Given the description of an element on the screen output the (x, y) to click on. 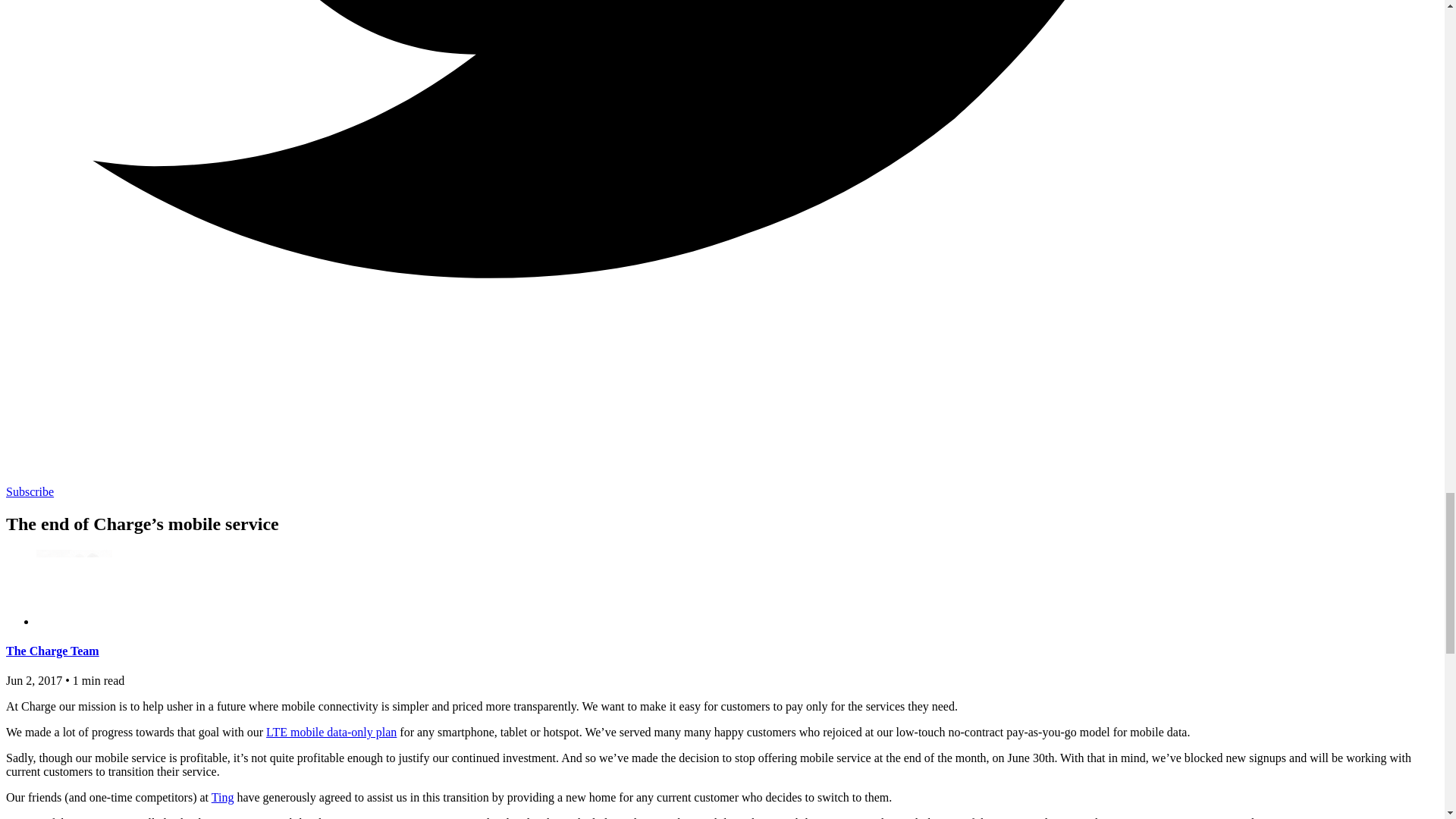
The Charge Team (52, 650)
Subscribe (29, 491)
Ting (222, 797)
LTE mobile data-only plan (331, 731)
